Given the description of an element on the screen output the (x, y) to click on. 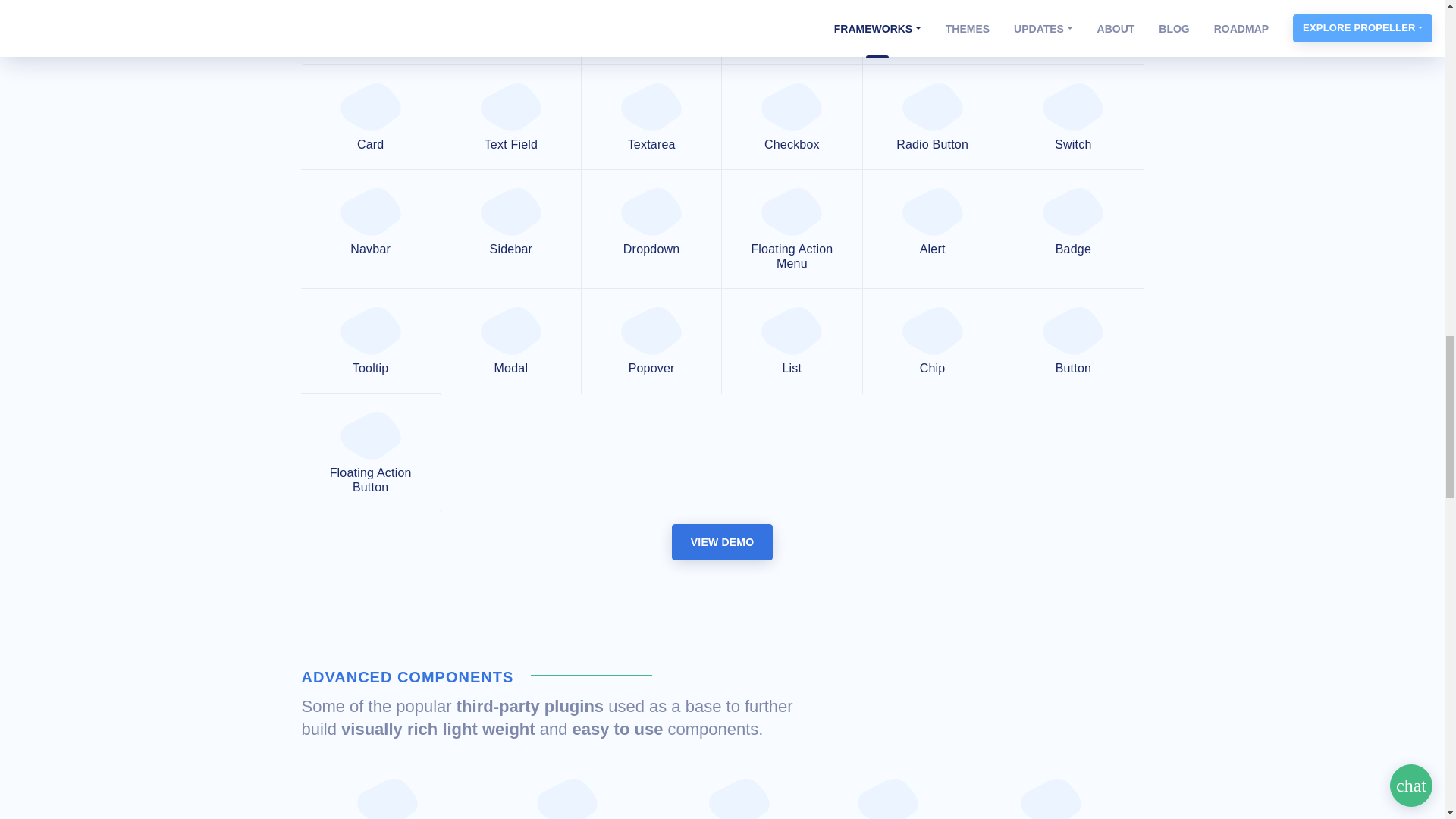
Tab (933, 32)
Table (1072, 32)
Typography (510, 32)
Accordion (791, 32)
Text Field (510, 117)
Checkbox (791, 117)
Card (370, 117)
Shadow (651, 32)
Textarea (651, 117)
Typography (510, 32)
